Given the description of an element on the screen output the (x, y) to click on. 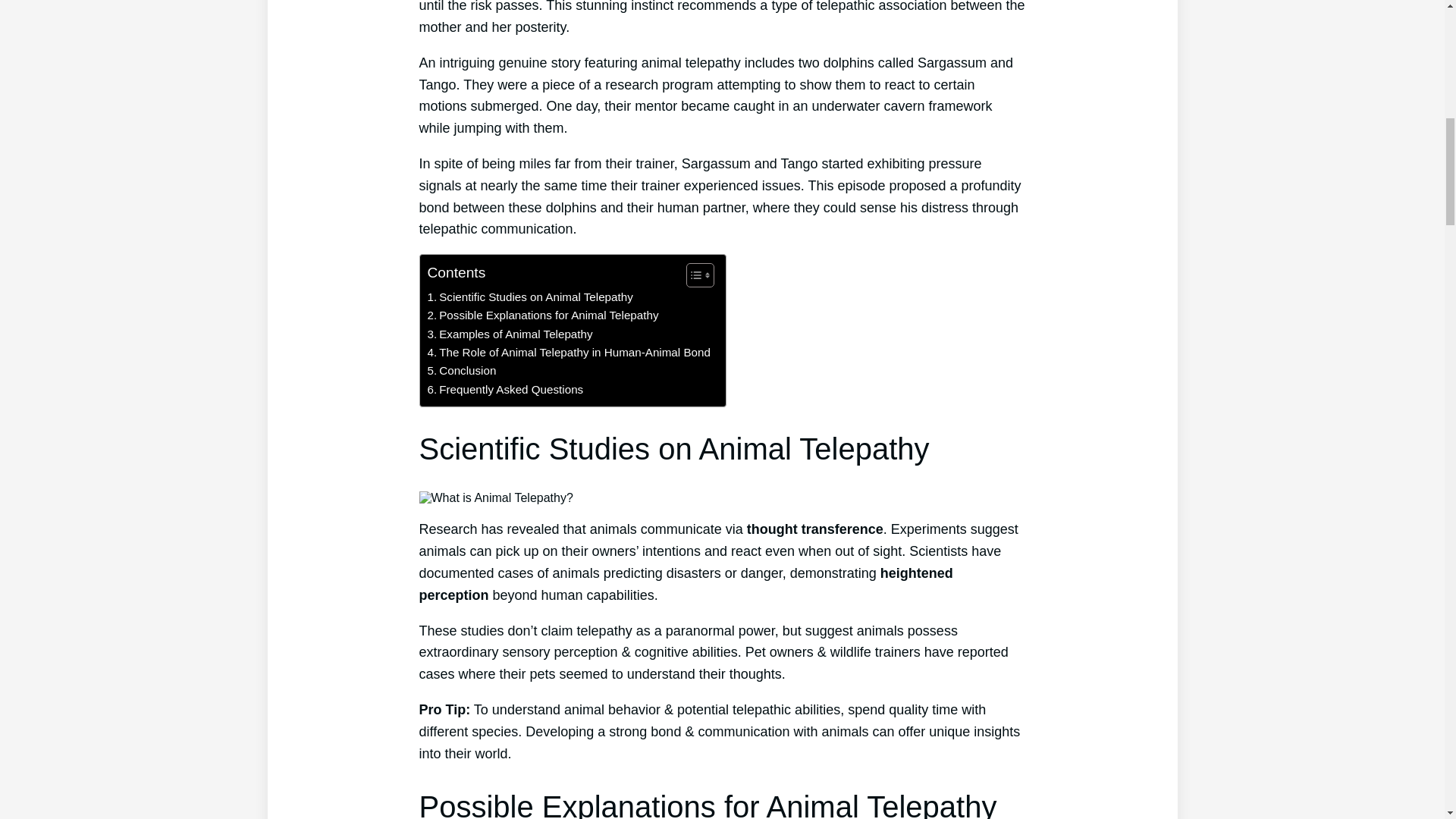
Frequently Asked Questions (505, 389)
Scientific Studies on Animal Telepathy (530, 297)
Frequently Asked Questions (505, 389)
Scientific Studies on Animal Telepathy (530, 297)
The Role of Animal Telepathy in Human-Animal Bond (569, 352)
Examples of Animal Telepathy (510, 334)
Possible Explanations for Animal Telepathy (543, 315)
Examples of Animal Telepathy (510, 334)
Possible Explanations for Animal Telepathy (543, 315)
Conclusion (462, 370)
Conclusion (462, 370)
The Role of Animal Telepathy in Human-Animal Bond (569, 352)
